Given the description of an element on the screen output the (x, y) to click on. 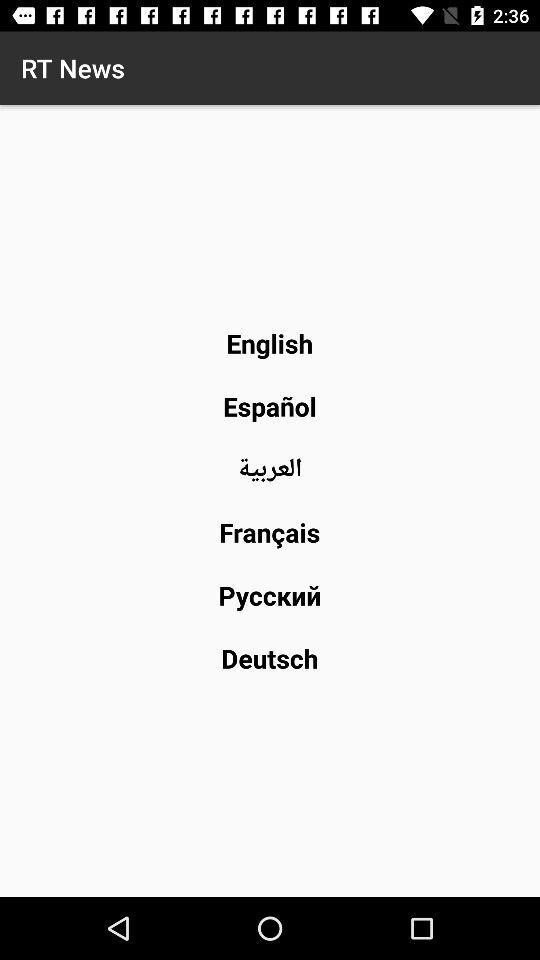
select the item below the english icon (269, 406)
